Given the description of an element on the screen output the (x, y) to click on. 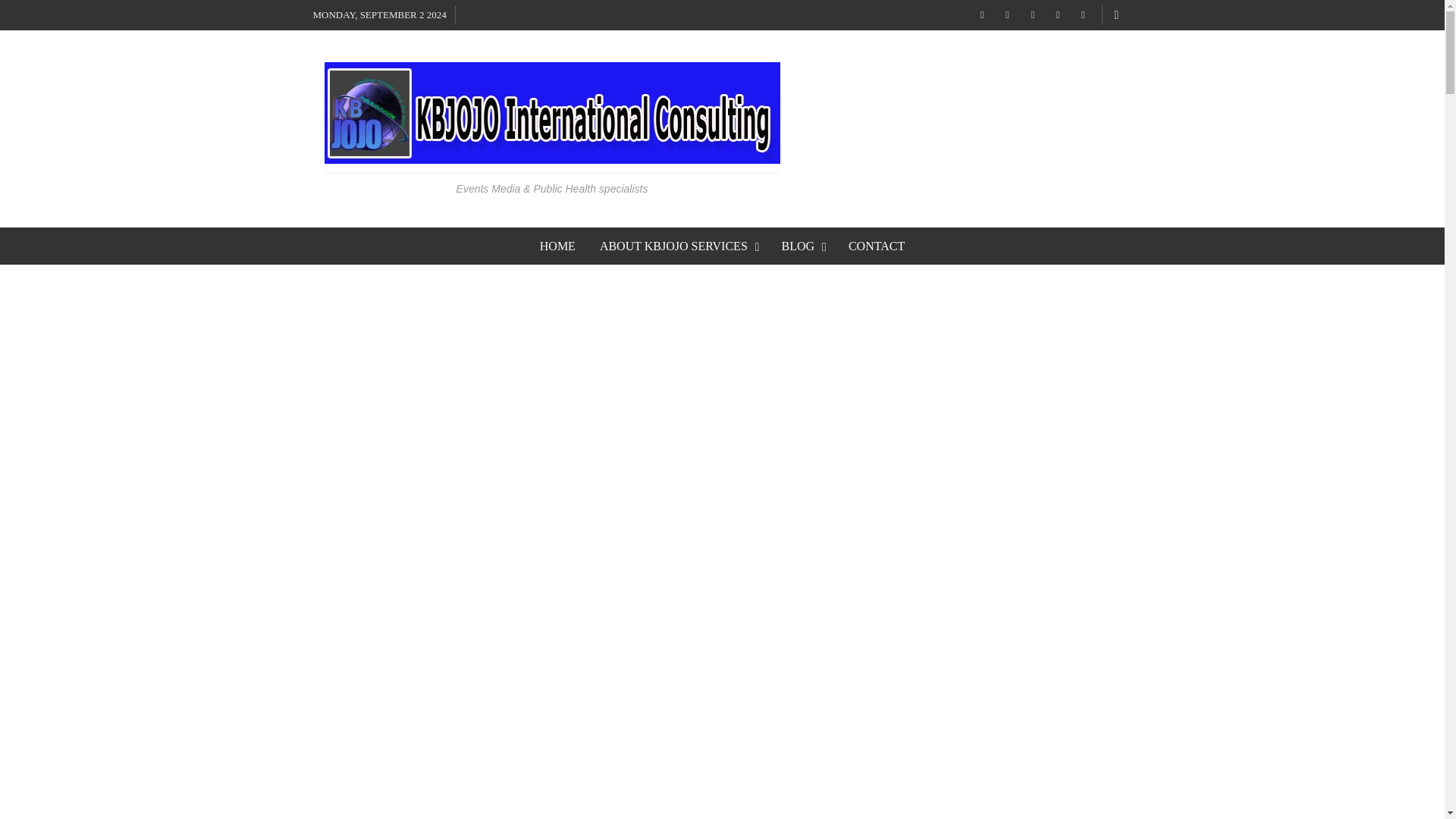
BLOG (802, 246)
CONTACT (876, 246)
HOME (557, 246)
ABOUT KBJOJO SERVICES (679, 246)
